Given the description of an element on the screen output the (x, y) to click on. 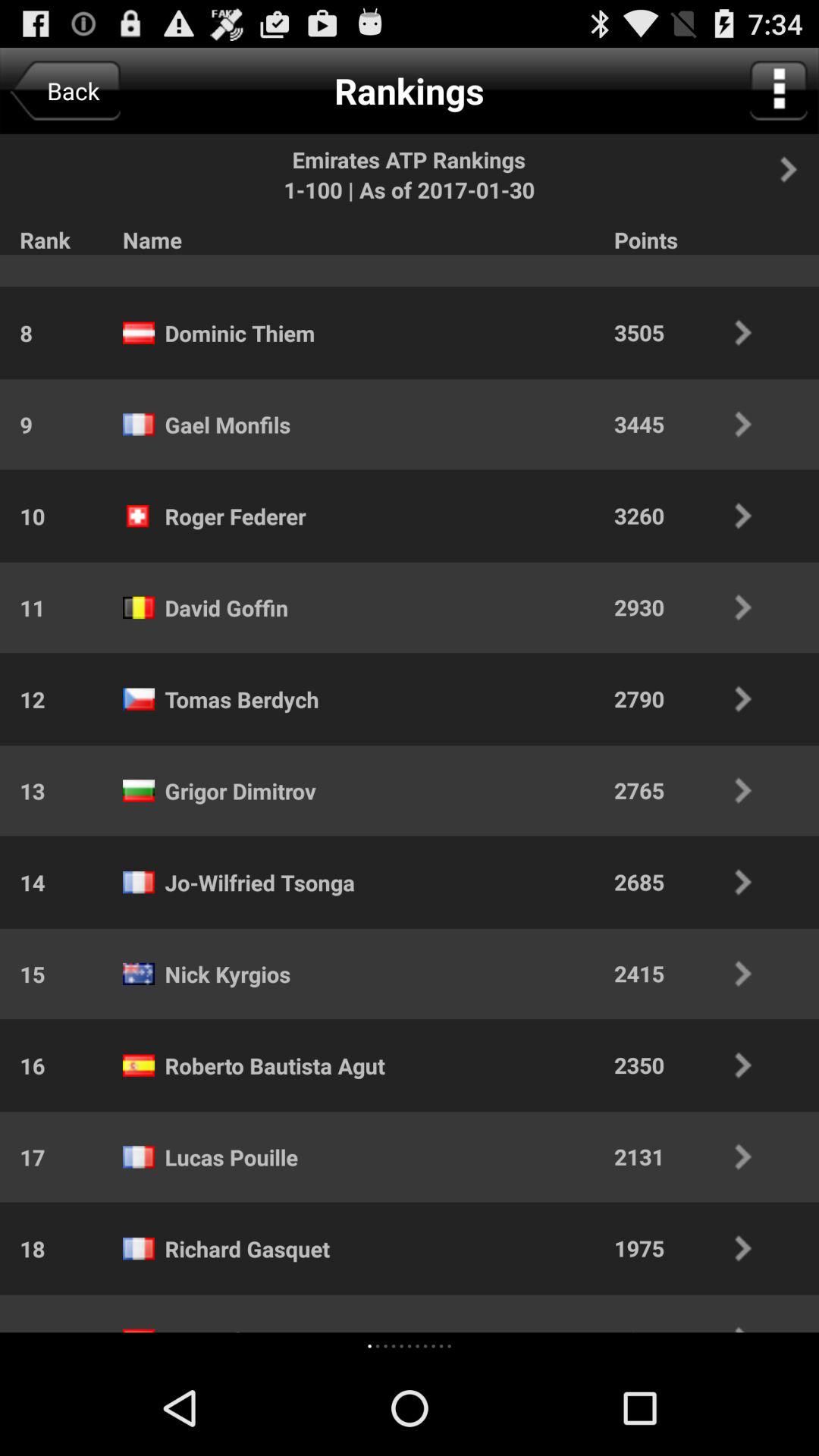
open icon above 15 icon (22, 882)
